Given the description of an element on the screen output the (x, y) to click on. 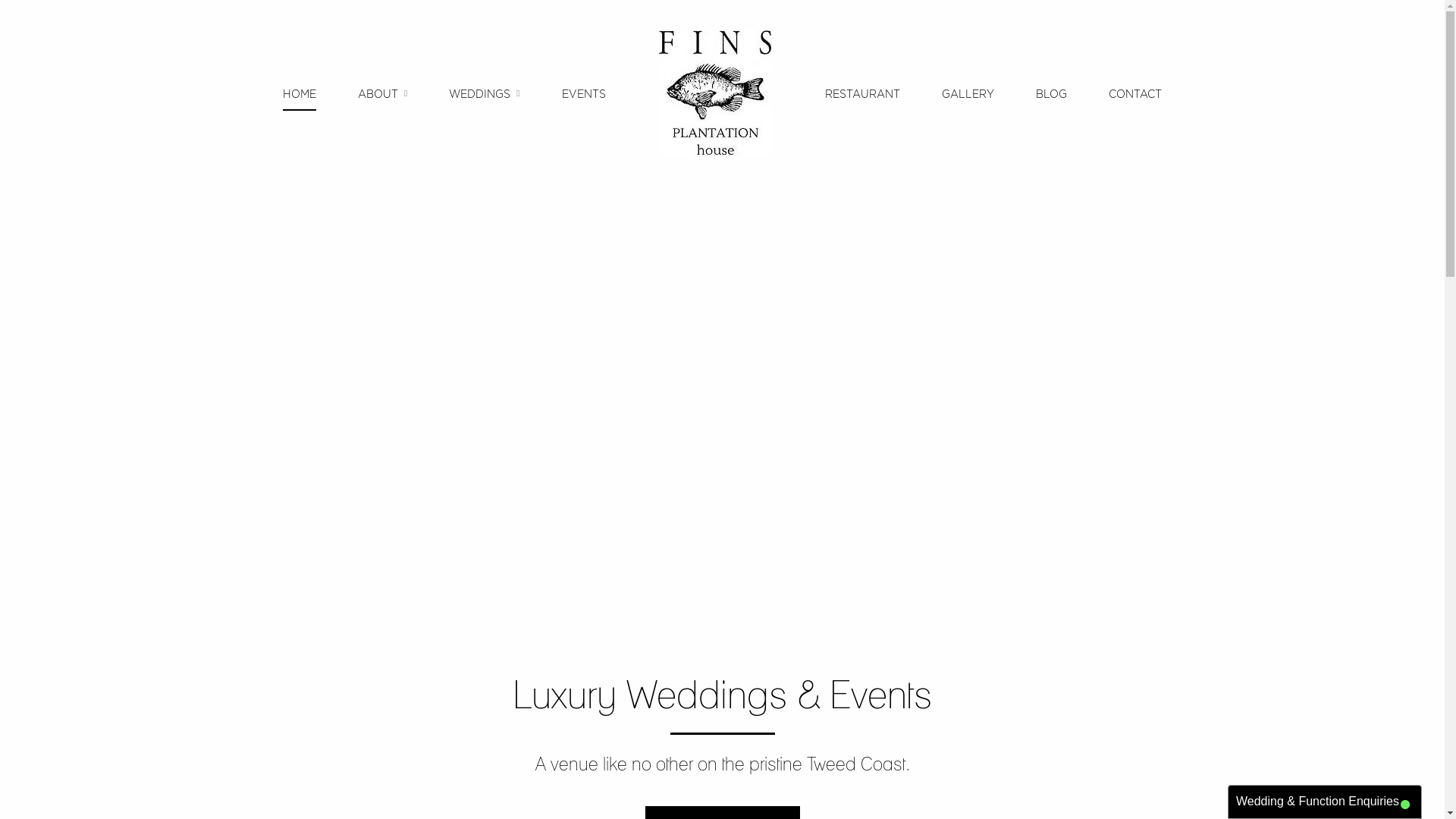
GALLERY Element type: text (967, 92)
EVENTS Element type: text (583, 92)
BLOG Element type: text (1050, 92)
CONTACT Element type: text (1134, 92)
ABOUT Element type: text (382, 92)
RESTAURANT Element type: text (862, 92)
  Element type: text (714, 93)
WEDDINGS Element type: text (483, 92)
HOME Element type: text (299, 92)
